Given the description of an element on the screen output the (x, y) to click on. 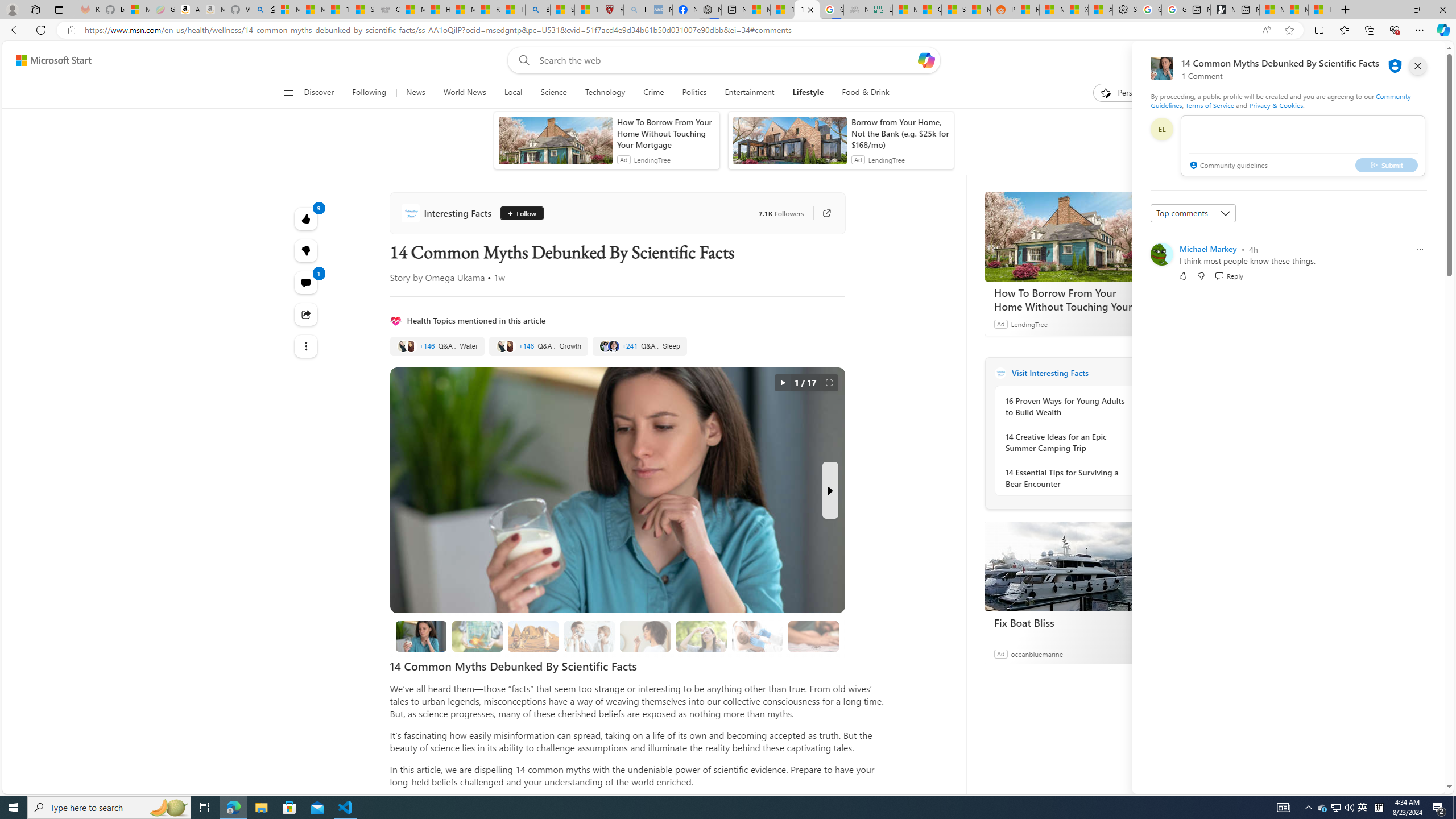
12 Popular Science Lies that Must be Corrected (586, 9)
close (1417, 65)
9 Like (305, 218)
Share this story (305, 314)
Crime (653, 92)
Borrow from Your Home, Not the Bank (e.g. $25k for $168/mo) (899, 133)
